Given the description of an element on the screen output the (x, y) to click on. 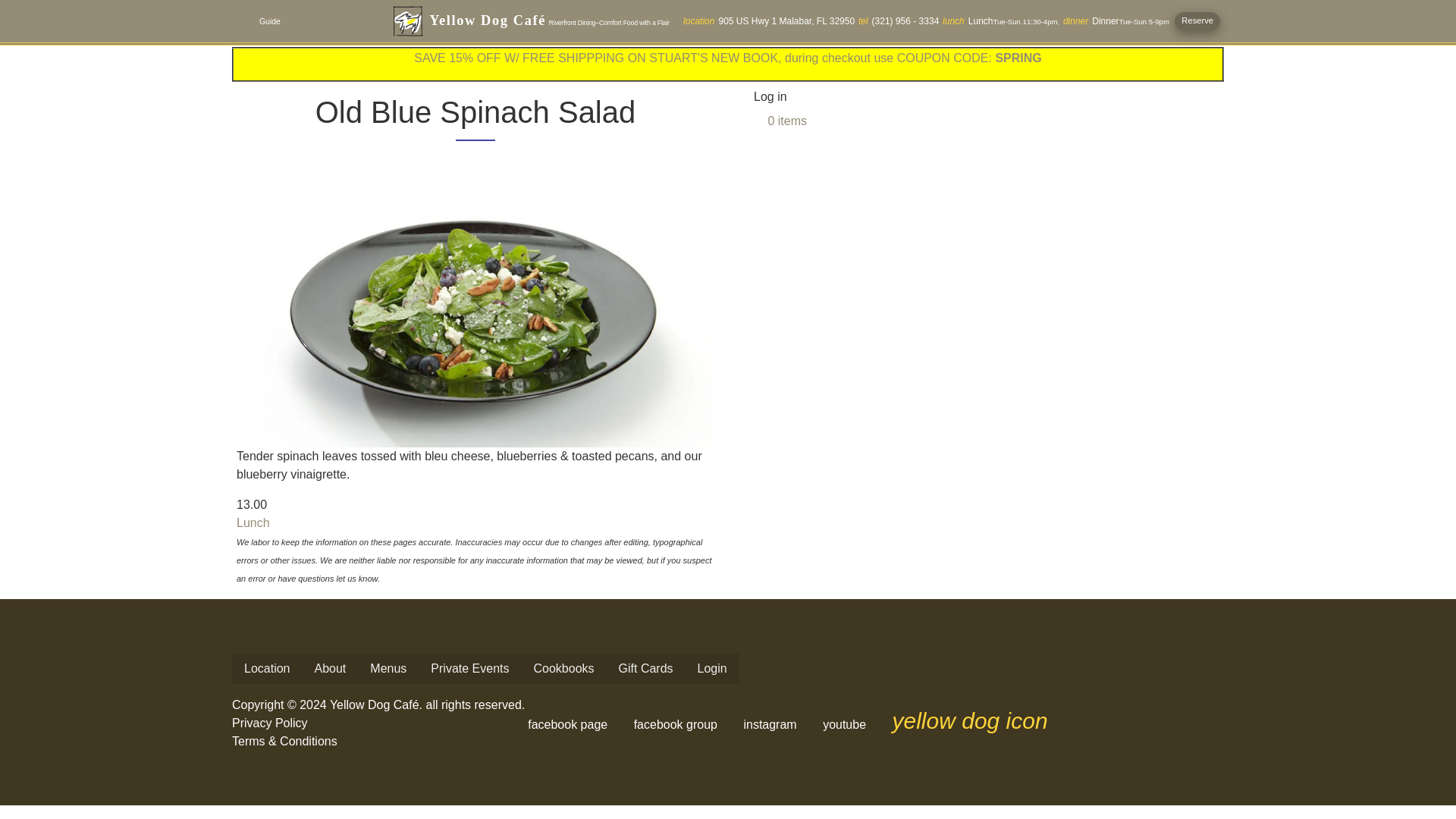
location905 US Hwy 1 Malabar, FL 32950 (768, 20)
Log in (770, 96)
Lunch (252, 522)
Home (548, 21)
dinnerDinnerTue-Sun 5-9pm (1115, 20)
lunchLunchTue-Sun 11:30-4pm, (1000, 20)
click for location information (768, 20)
Olde Blue Spinach Salad (474, 313)
About (329, 668)
Private Events (470, 668)
List (243, 21)
click to call with phone (899, 20)
Chef Stuart Borton reprinted his cookbook (564, 668)
click for online reservation (1197, 20)
